Given the description of an element on the screen output the (x, y) to click on. 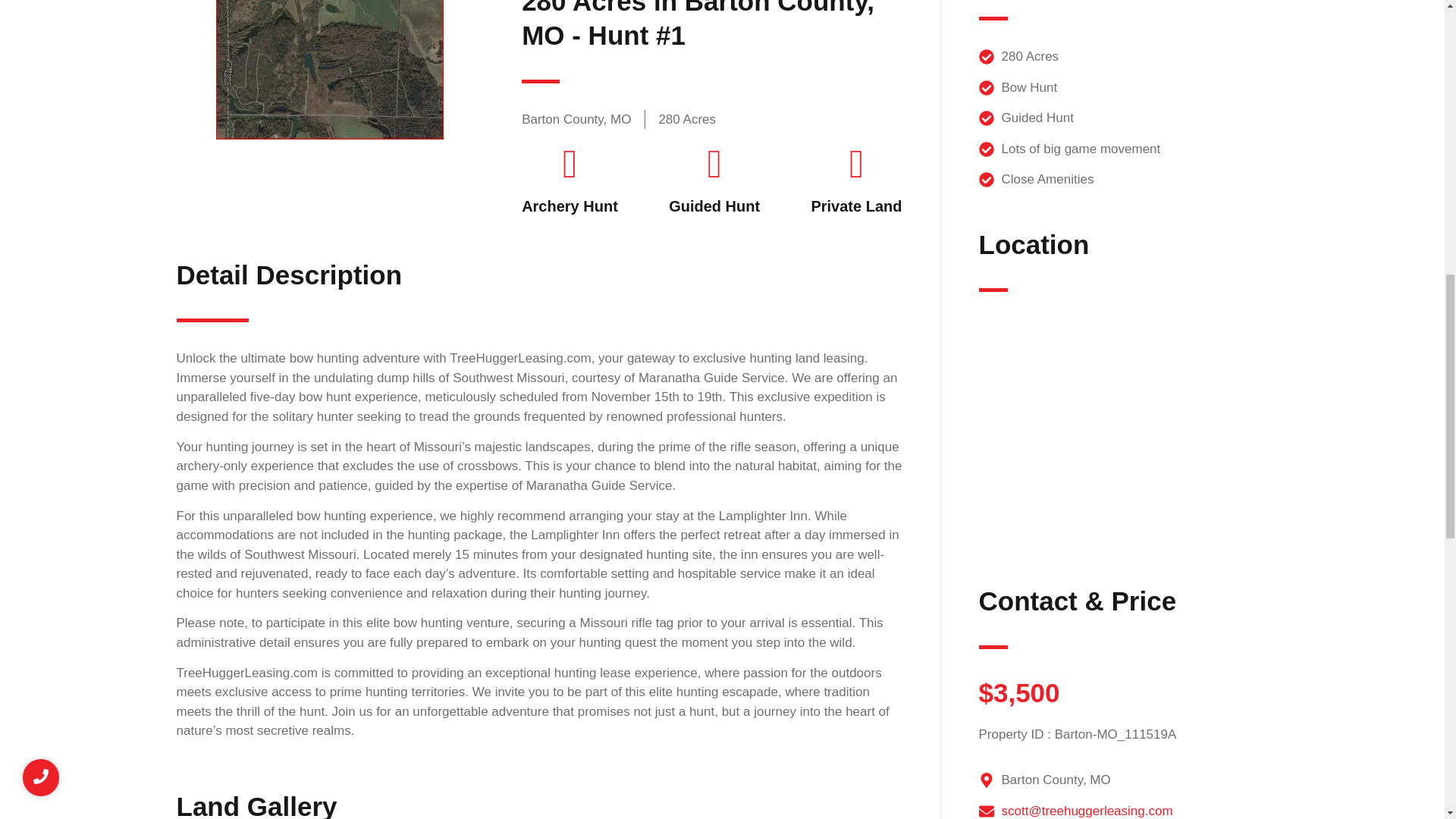
Barton County, MO (1123, 432)
